Given the description of an element on the screen output the (x, y) to click on. 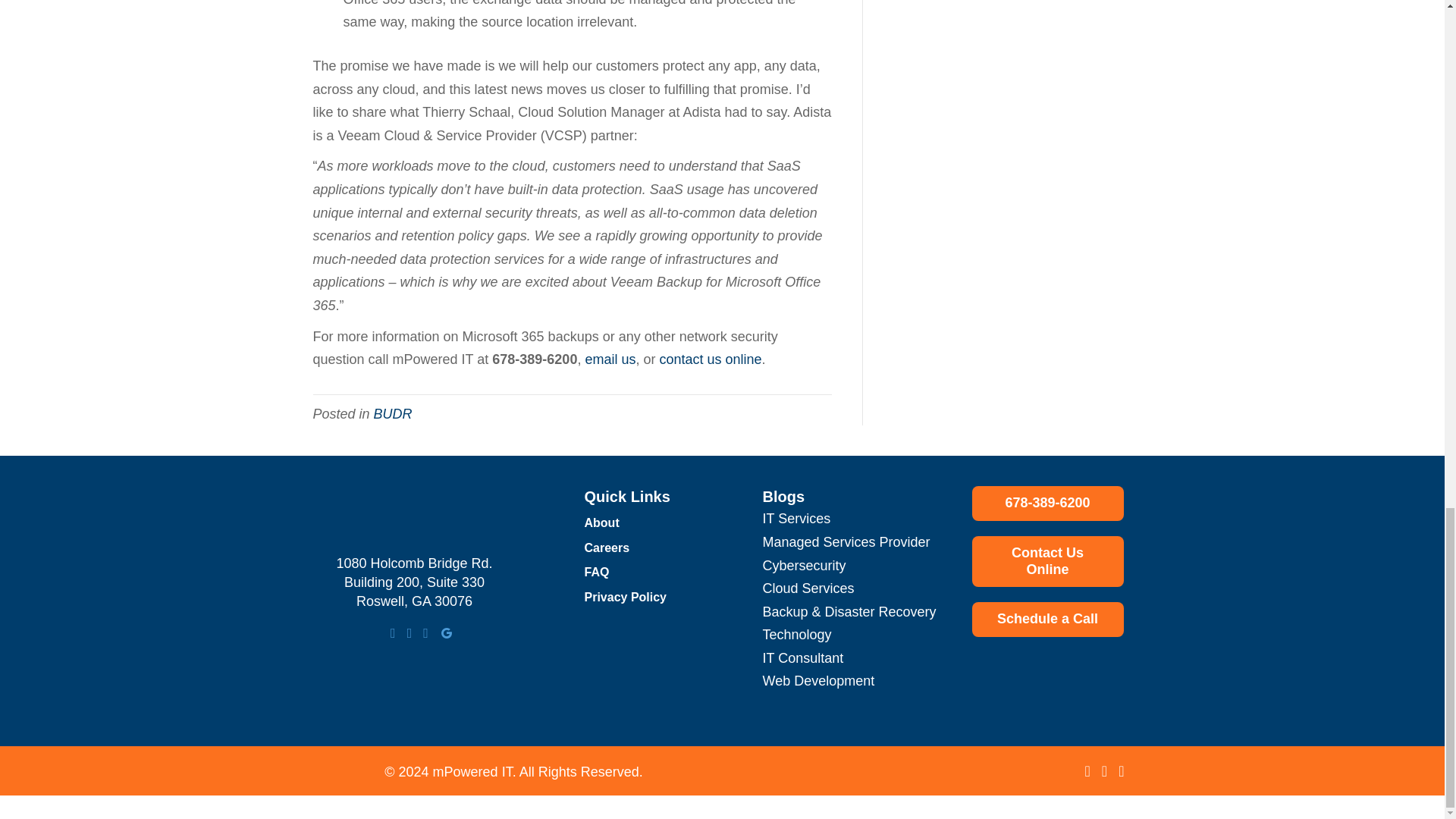
mPowered IT reverse logo (413, 508)
